Given the description of an element on the screen output the (x, y) to click on. 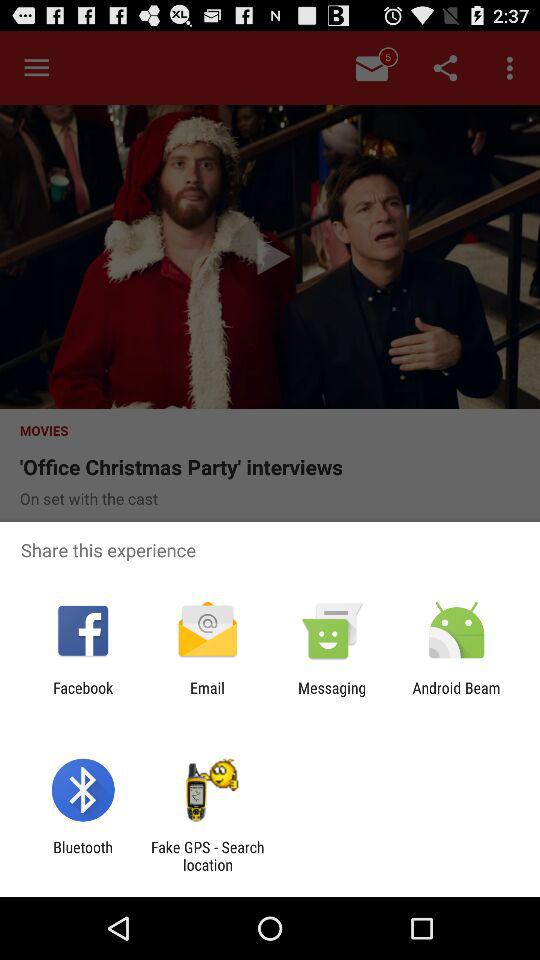
turn on icon next to messaging app (456, 696)
